Given the description of an element on the screen output the (x, y) to click on. 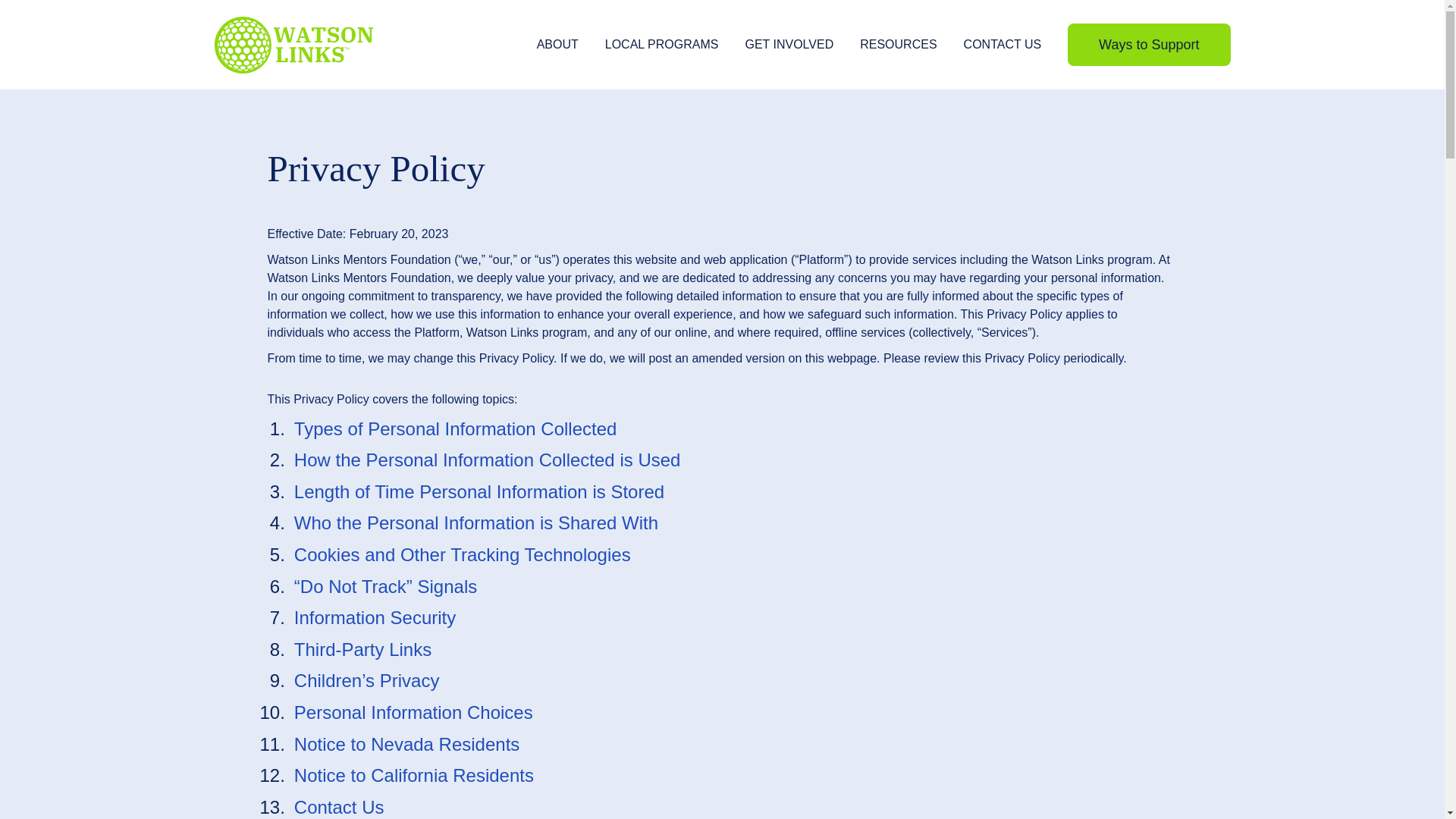
Get Involved (788, 44)
Third-Party Links (362, 649)
Types of Personal Information Collected (455, 428)
Information Security (374, 617)
How the Personal Information Collected is Used (487, 459)
Cookies and Other Tracking Technologies (462, 554)
Contact Us (339, 806)
Ways to Support (1148, 44)
Personal Information Choices (413, 711)
LOCAL PROGRAMS (662, 44)
